Given the description of an element on the screen output the (x, y) to click on. 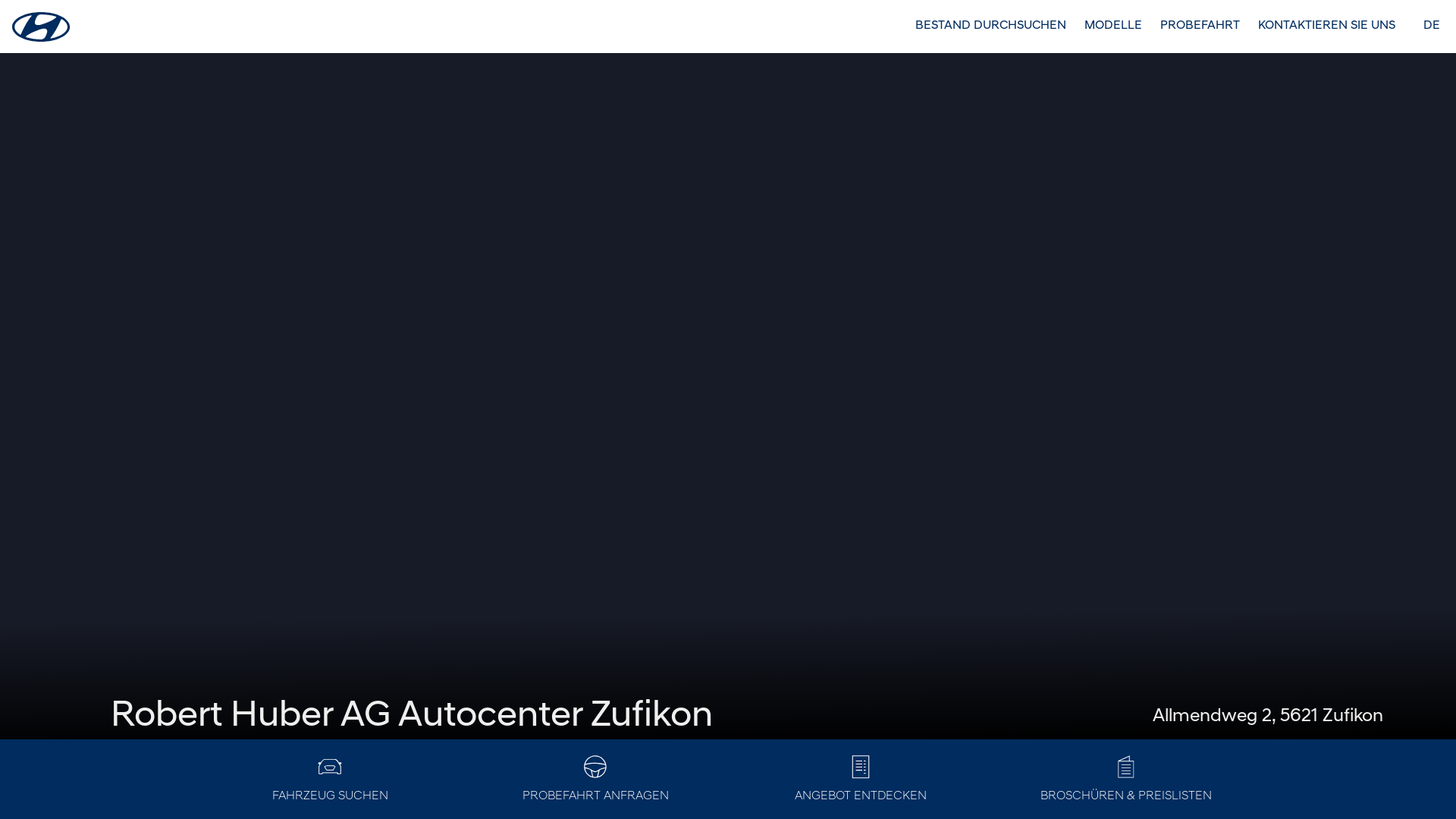
ANGEBOT ENTDECKEN Element type: text (860, 778)
BESTAND DURCHSUCHEN Element type: text (990, 25)
KONTAKTIEREN SIE UNS Element type: text (1326, 25)
PROBEFAHRT ANFRAGEN Element type: text (595, 778)
MODELLE Element type: text (1113, 25)
FAHRZEUG SUCHEN Element type: text (329, 778)
PROBEFAHRT Element type: text (1199, 25)
